Given the description of an element on the screen output the (x, y) to click on. 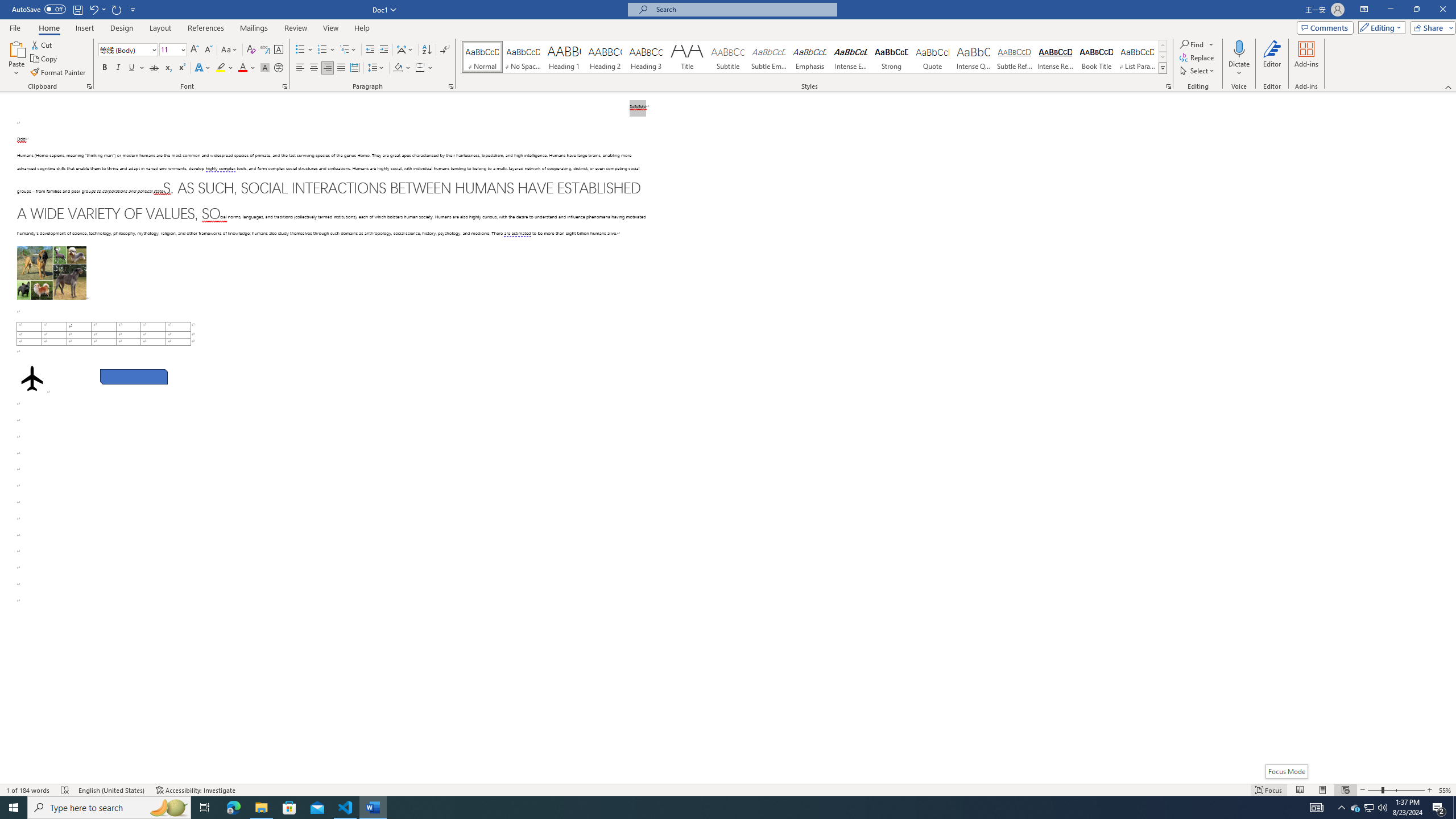
Intense Emphasis (849, 56)
Heading 3 (646, 56)
Intense Reference (1055, 56)
